Given the description of an element on the screen output the (x, y) to click on. 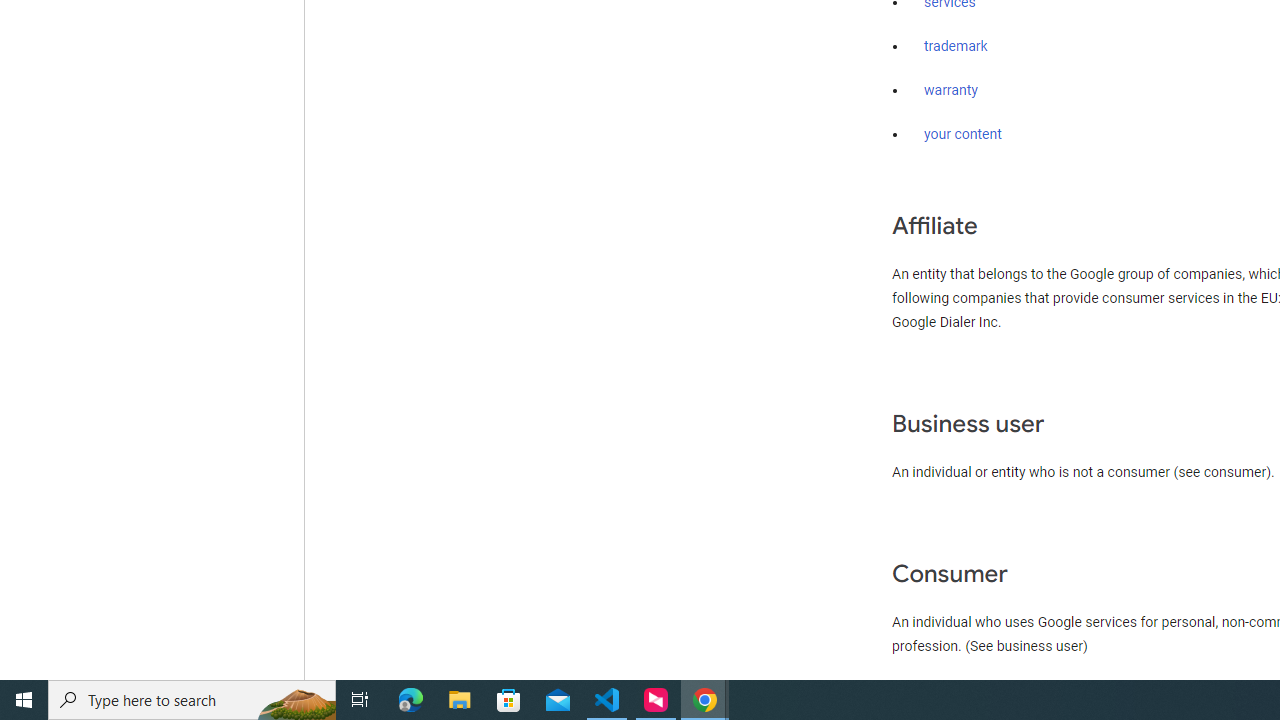
warranty (950, 91)
trademark (956, 47)
your content (963, 134)
